Given the description of an element on the screen output the (x, y) to click on. 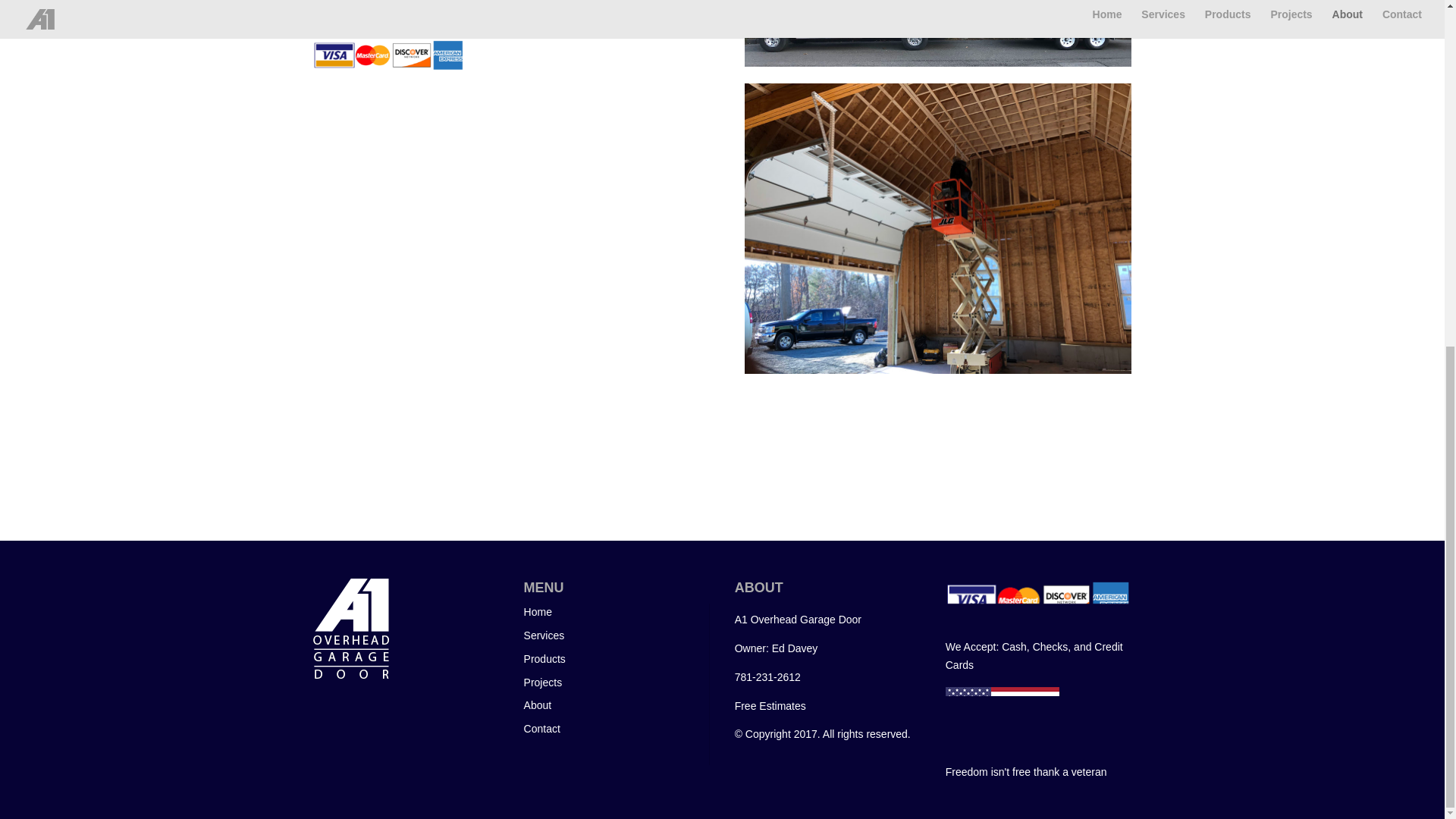
Contact (542, 728)
Home (537, 612)
About (537, 705)
Products (545, 658)
Projects (543, 682)
Services (544, 635)
